Given the description of an element on the screen output the (x, y) to click on. 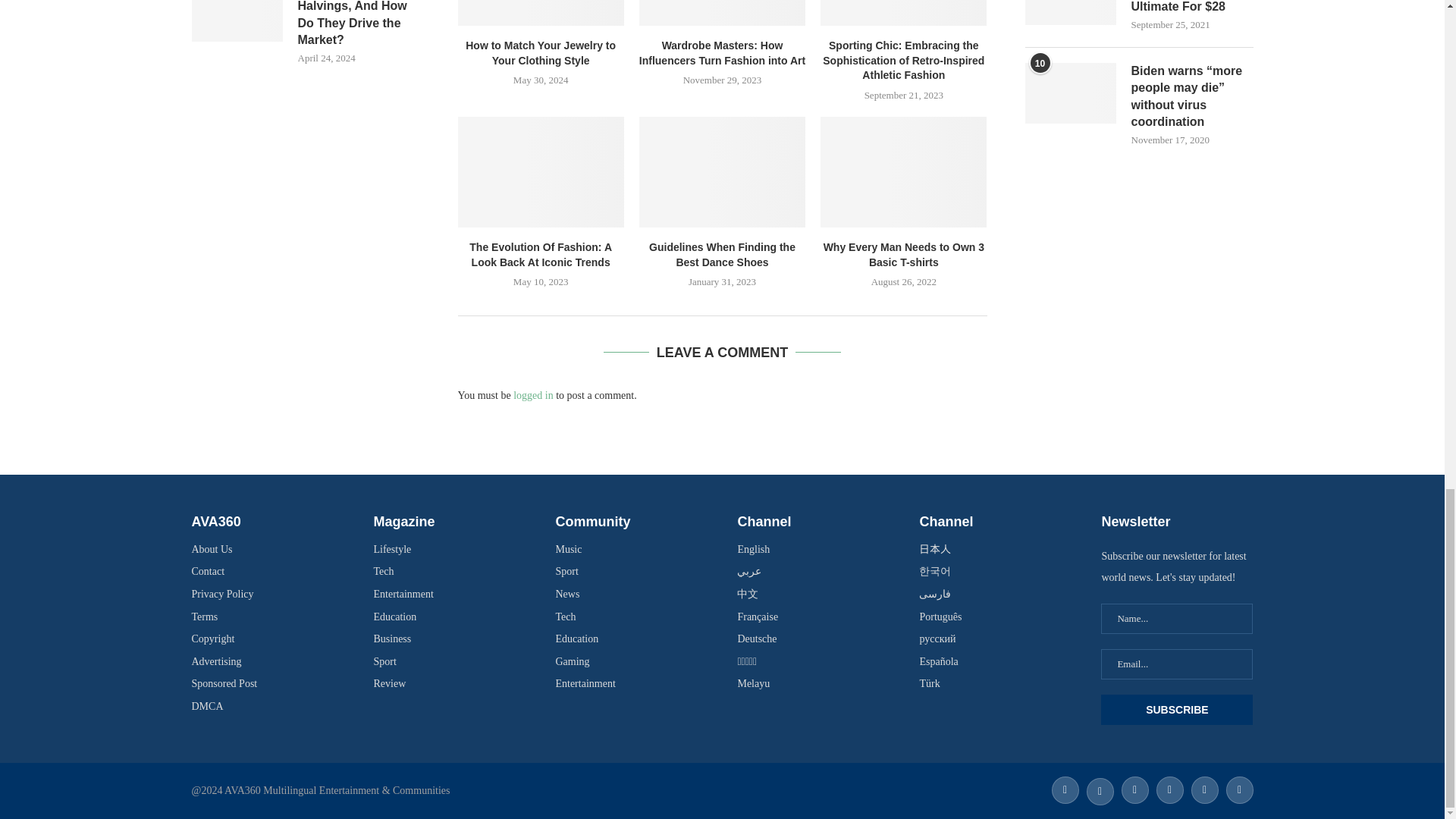
Guidelines When Finding the Best Dance Shoes (722, 172)
Why Every Man Needs to Own 3 Basic T-shirts (904, 172)
Subscribe (1176, 709)
The Evolution Of Fashion: A Look Back At Iconic Trends (541, 172)
How to Match Your Jewelry to Your Clothing Style (541, 12)
Wardrobe Masters: How Influencers Turn Fashion into Art (722, 12)
